Given the description of an element on the screen output the (x, y) to click on. 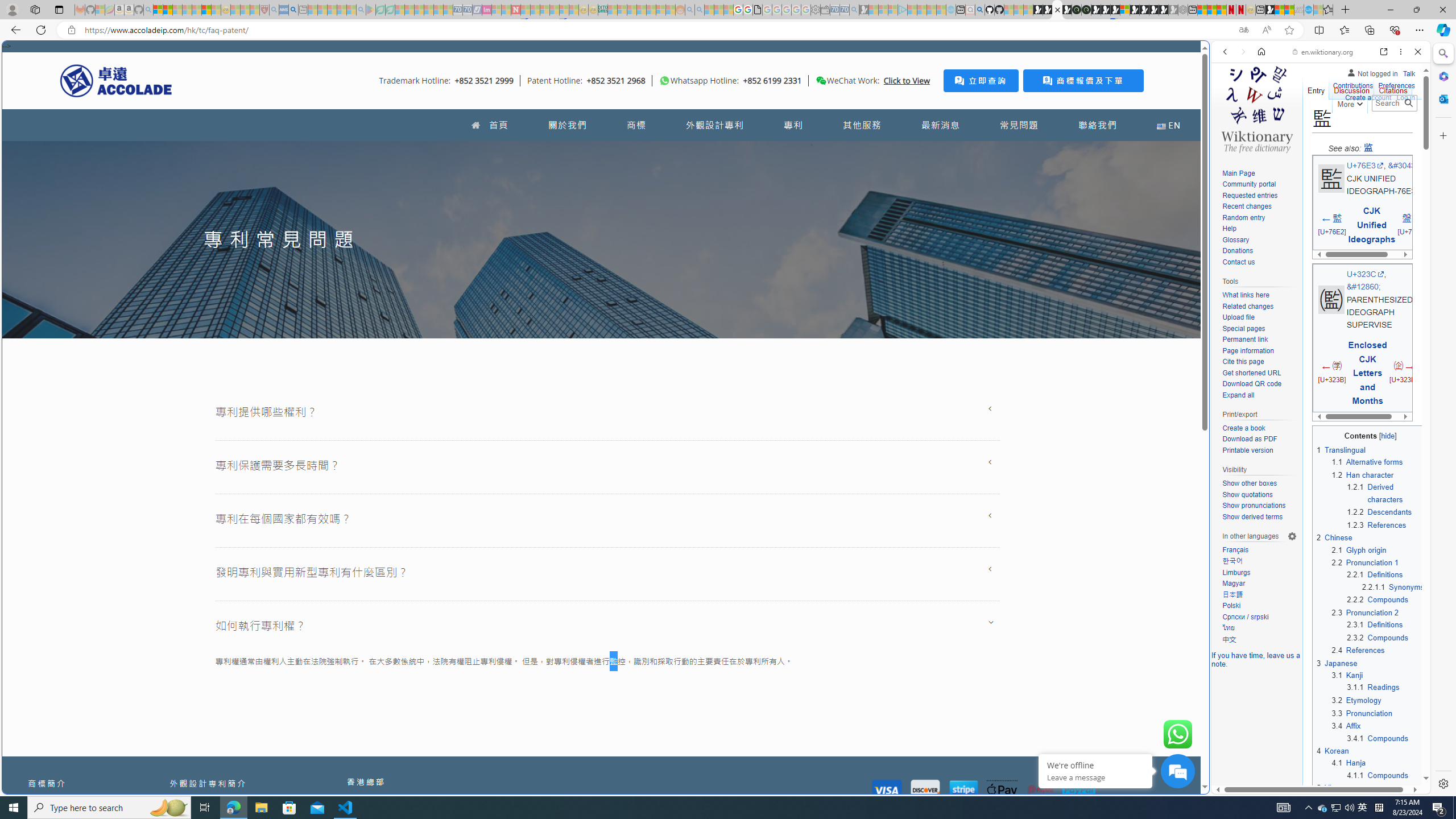
1 Translingual (1340, 450)
Class: desktop (821, 80)
github - Search (979, 9)
